Given the description of an element on the screen output the (x, y) to click on. 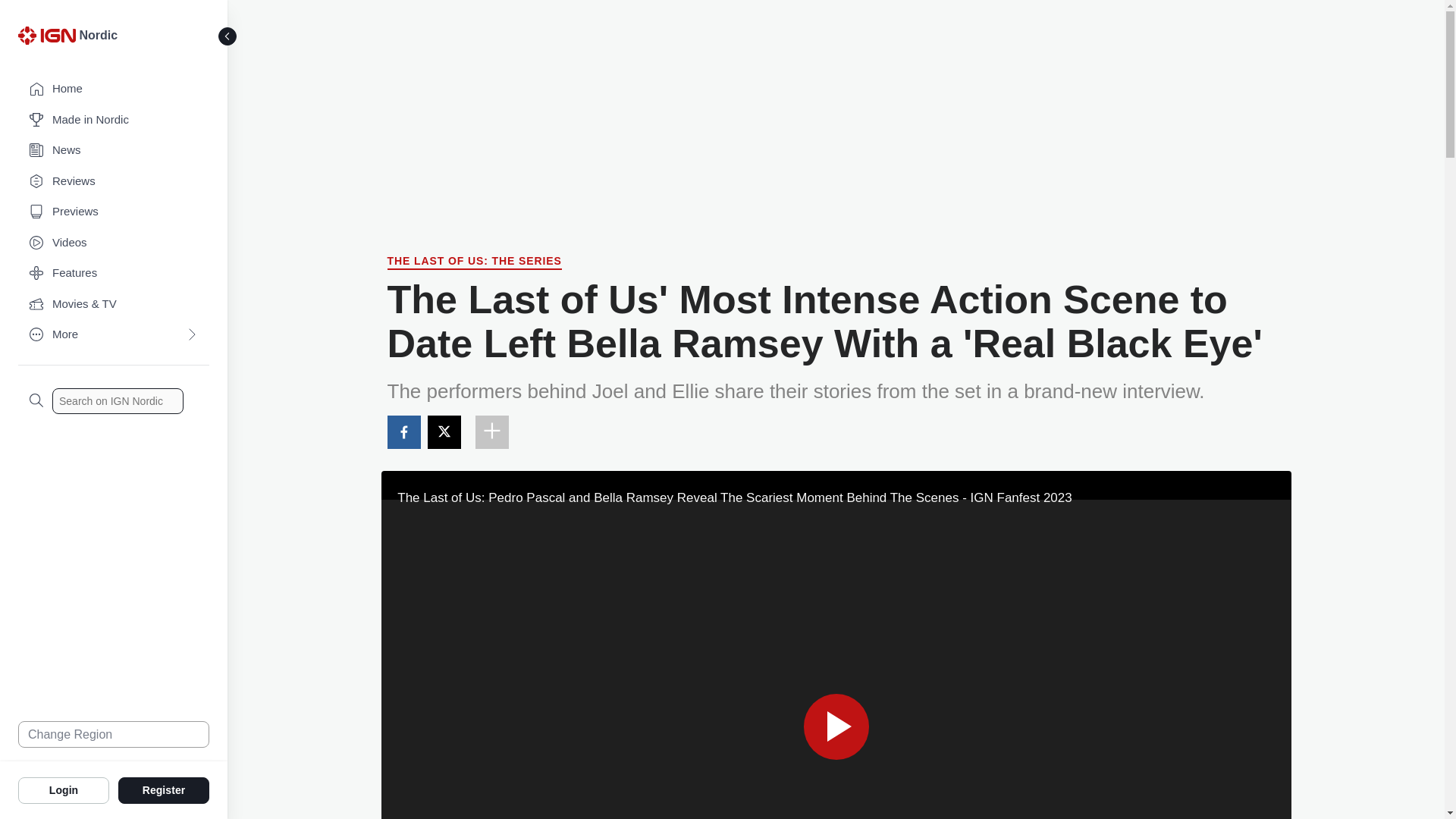
THE LAST OF US: THE SERIES (473, 262)
Made in Nordic (113, 119)
Videos (113, 242)
The Last of Us: The Series (473, 262)
More (113, 334)
IGN Logo (48, 39)
Home (113, 89)
IGN Logo (46, 34)
Register (163, 789)
Previews (113, 211)
